Given the description of an element on the screen output the (x, y) to click on. 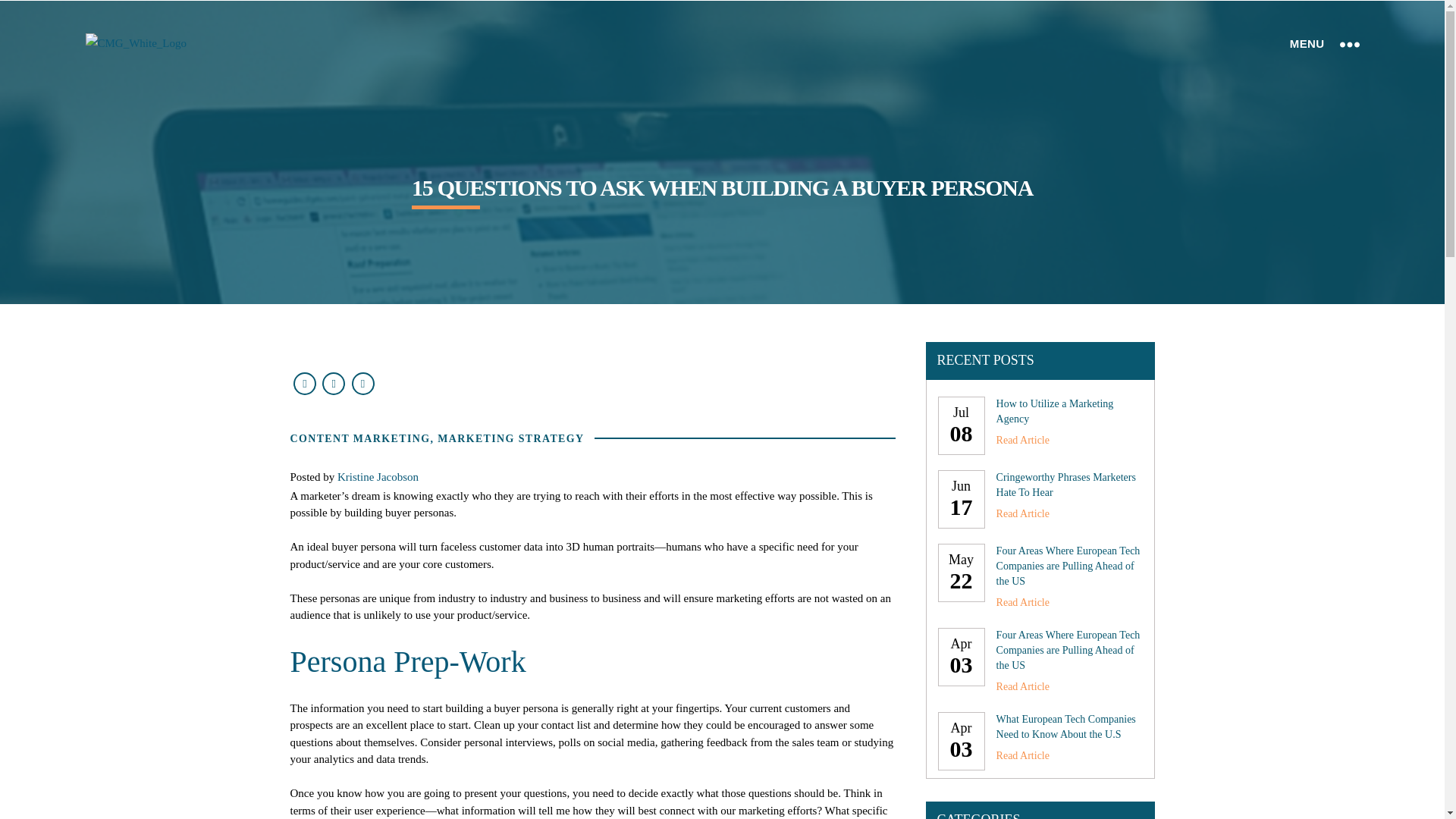
What European Tech Companies Need to Know About the U.S (1065, 726)
MARKETING STRATEGY (510, 438)
Read Article (1022, 686)
Kristine Jacobson (378, 476)
Read Article (1022, 601)
Read Article (1022, 755)
How to Utilize a Marketing Agency (1054, 411)
Cringeworthy Phrases Marketers Hate To Hear (1065, 484)
